Given the description of an element on the screen output the (x, y) to click on. 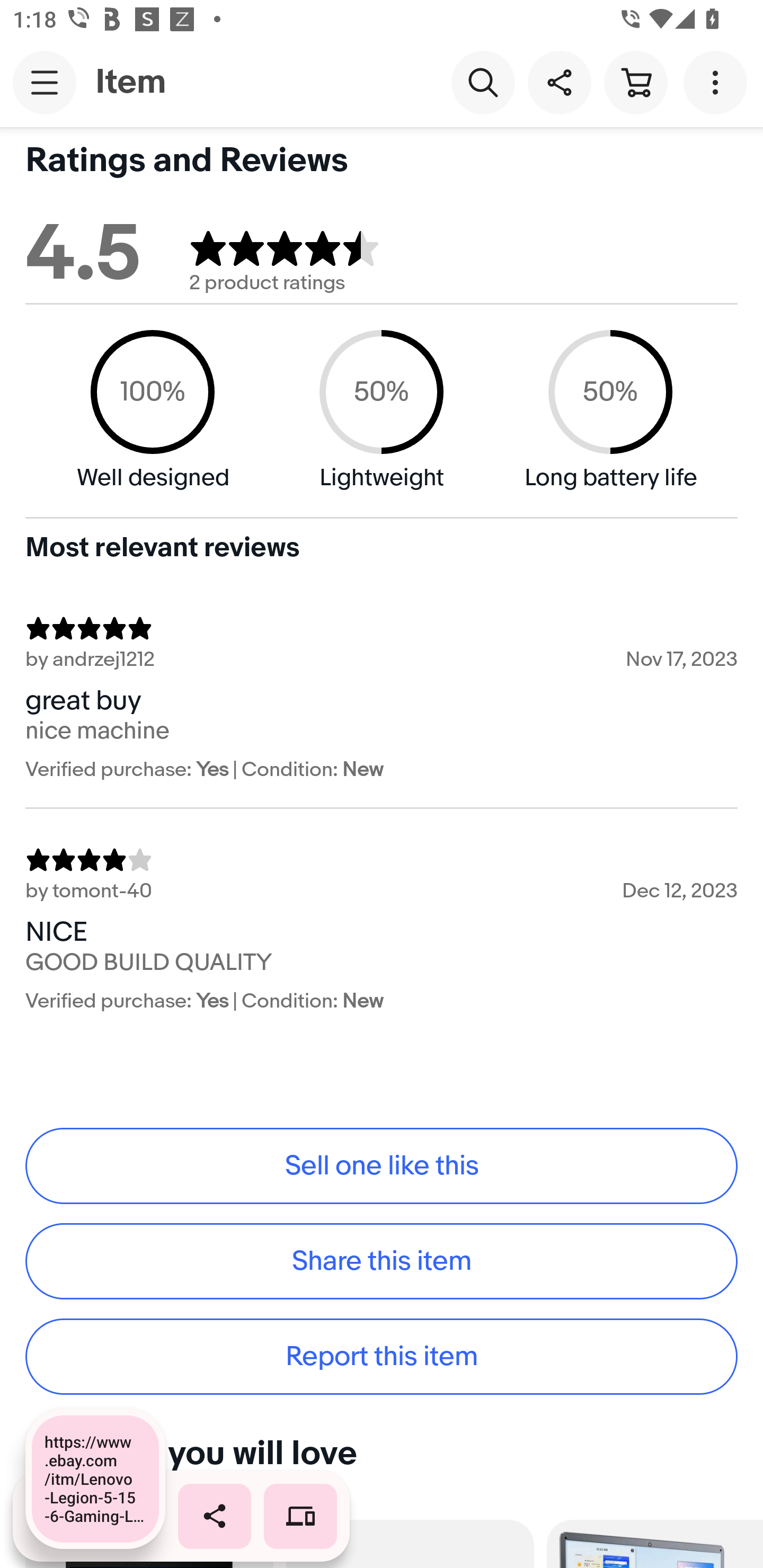
Main navigation, open (44, 82)
Search (482, 81)
Share this item (559, 81)
Cart button shopping cart (635, 81)
More options (718, 81)
Sell one like this (381, 1165)
Share this item (381, 1261)
Report this item (381, 1356)
